Given the description of an element on the screen output the (x, y) to click on. 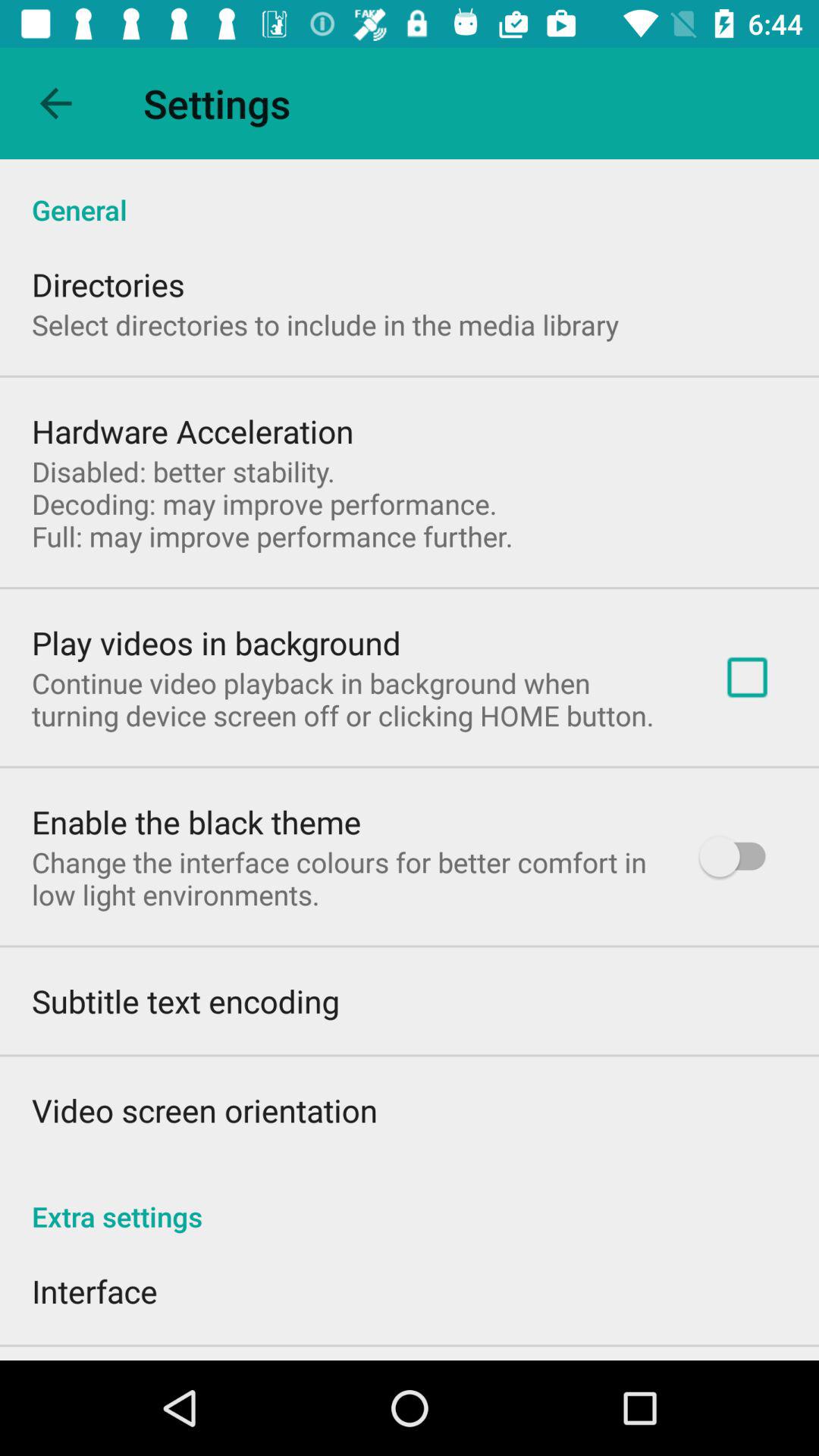
turn off app above general item (55, 103)
